Given the description of an element on the screen output the (x, y) to click on. 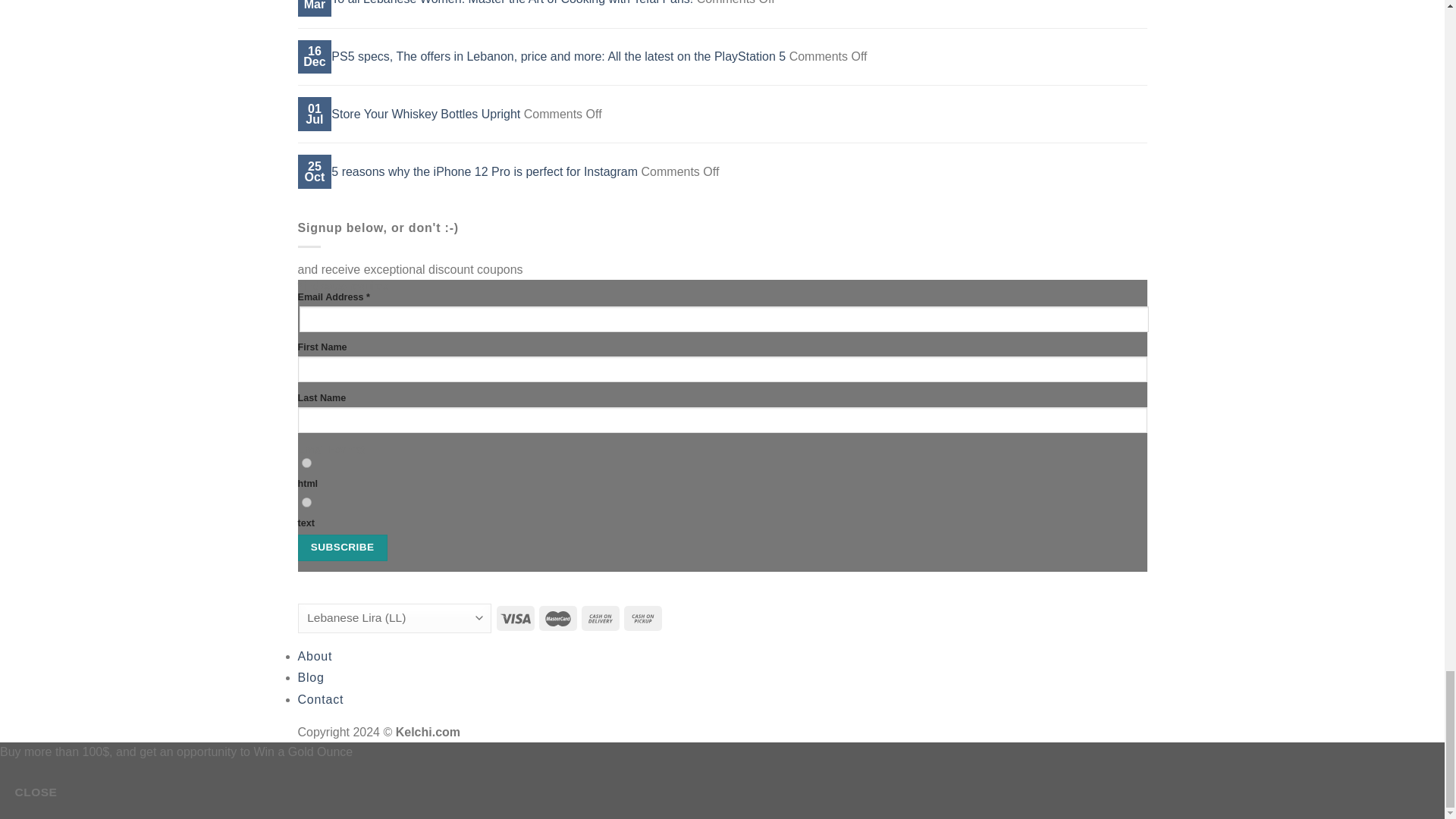
Subscribe (342, 547)
html (306, 462)
text (306, 501)
Store Your Whiskey Bottles Upright (425, 113)
